Given the description of an element on the screen output the (x, y) to click on. 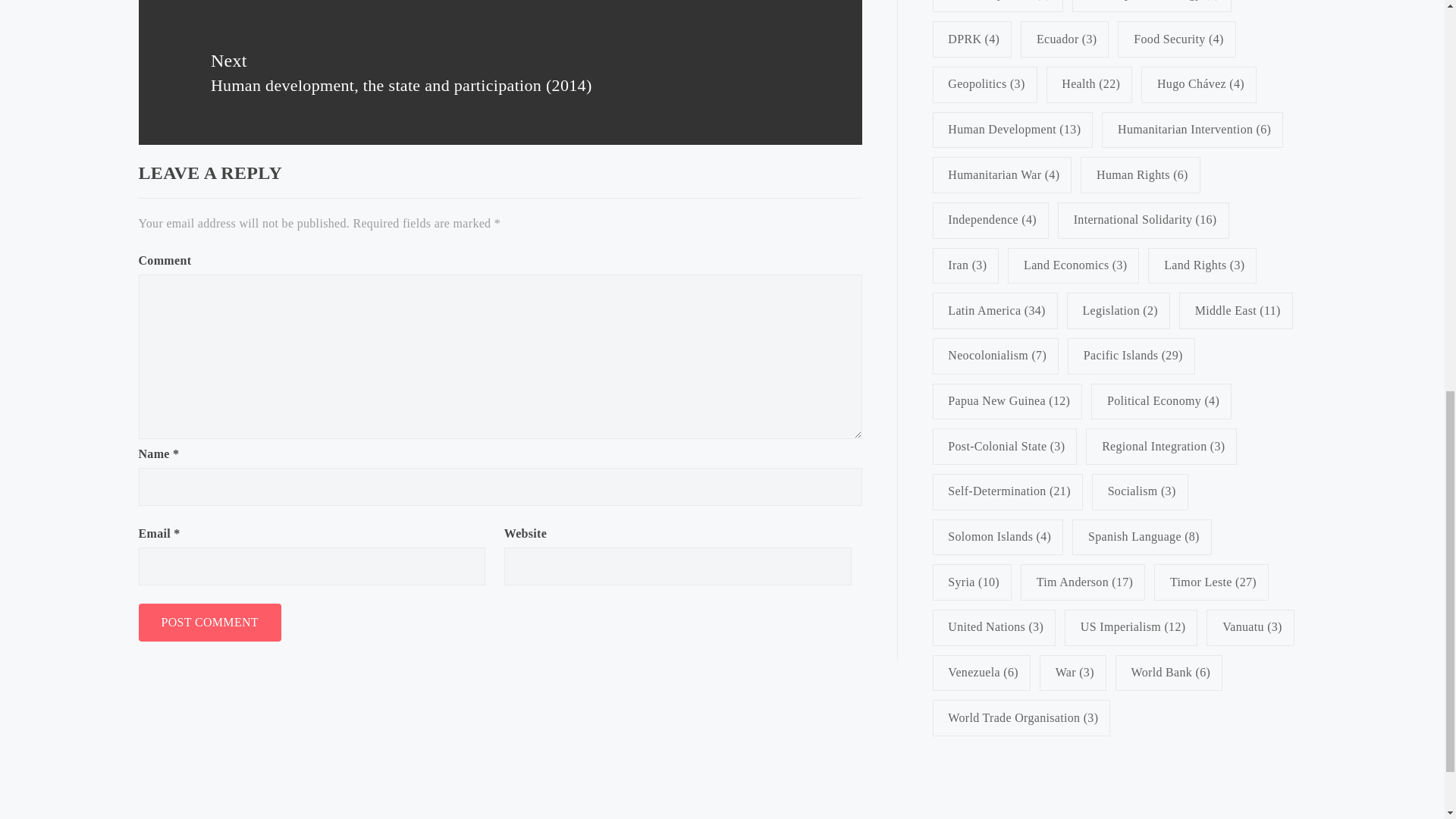
Post Comment (209, 622)
